Given the description of an element on the screen output the (x, y) to click on. 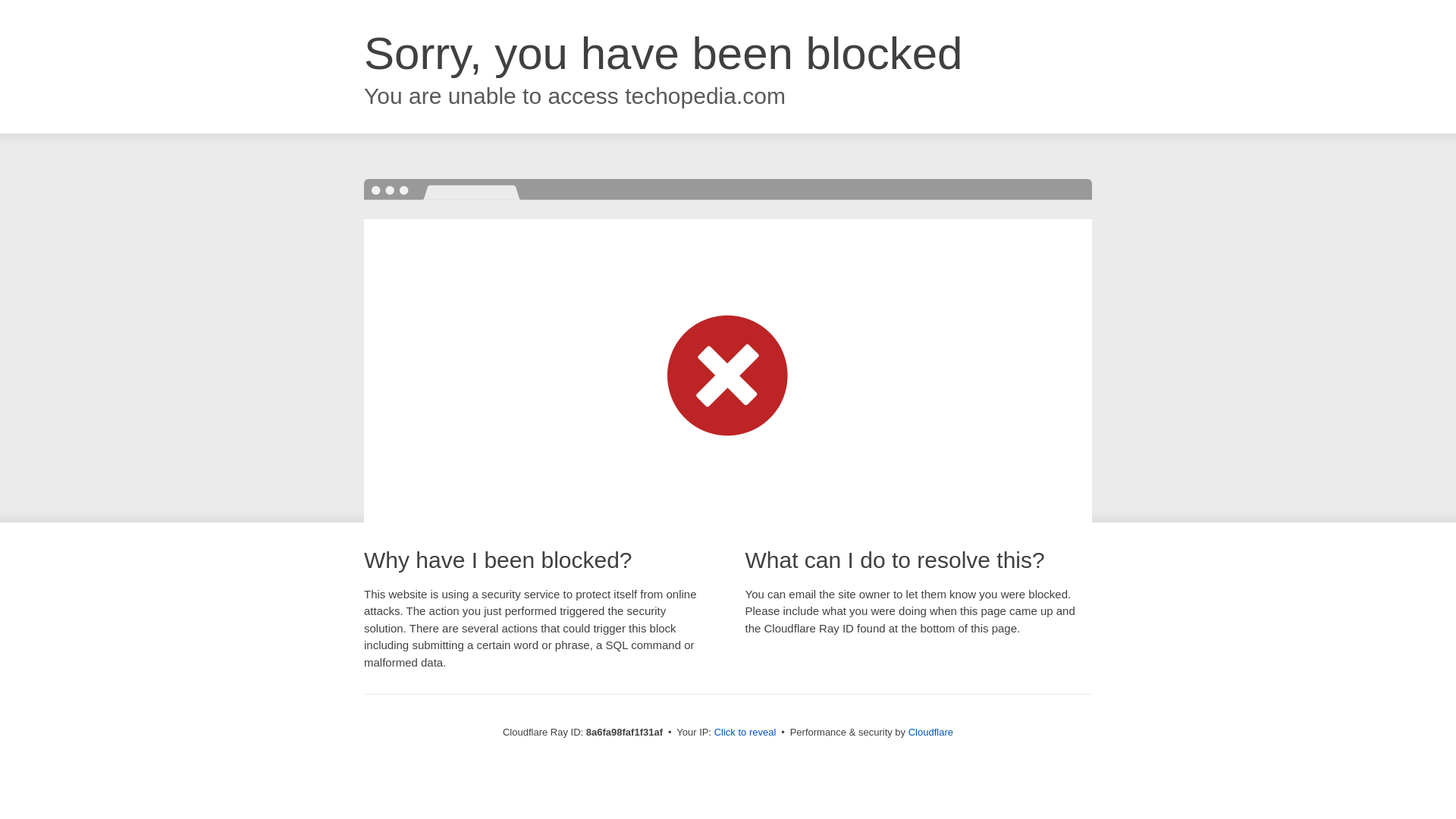
Click to reveal (745, 732)
Cloudflare (930, 731)
